Given the description of an element on the screen output the (x, y) to click on. 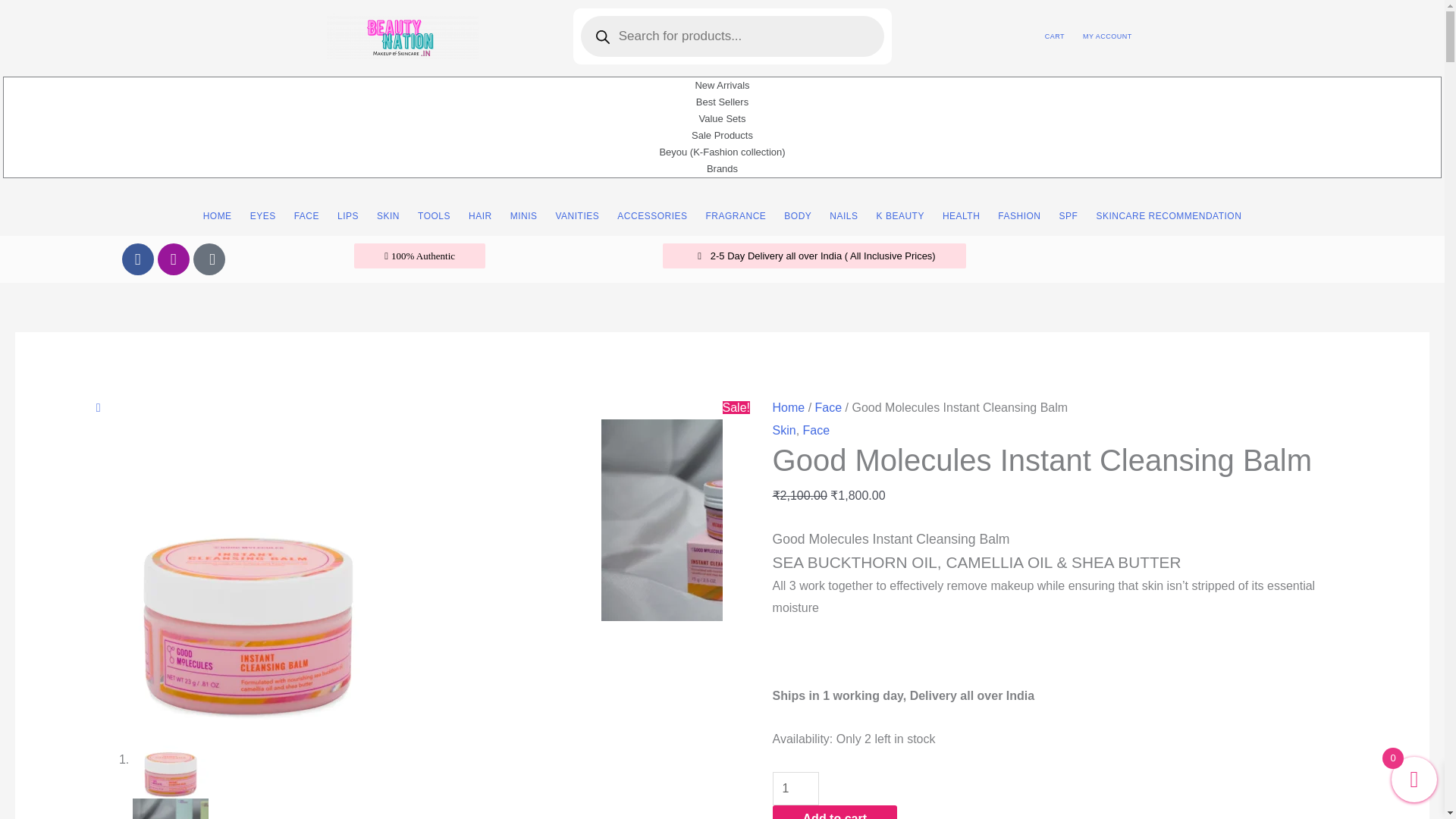
MY ACCOUNT (1107, 36)
Best Sellers (722, 102)
CART (1054, 36)
Brands (722, 168)
cropped-you-8-1.png (402, 35)
New Arrivals (722, 85)
Value Sets (722, 118)
1 (795, 788)
Sale Products (722, 135)
